Given the description of an element on the screen output the (x, y) to click on. 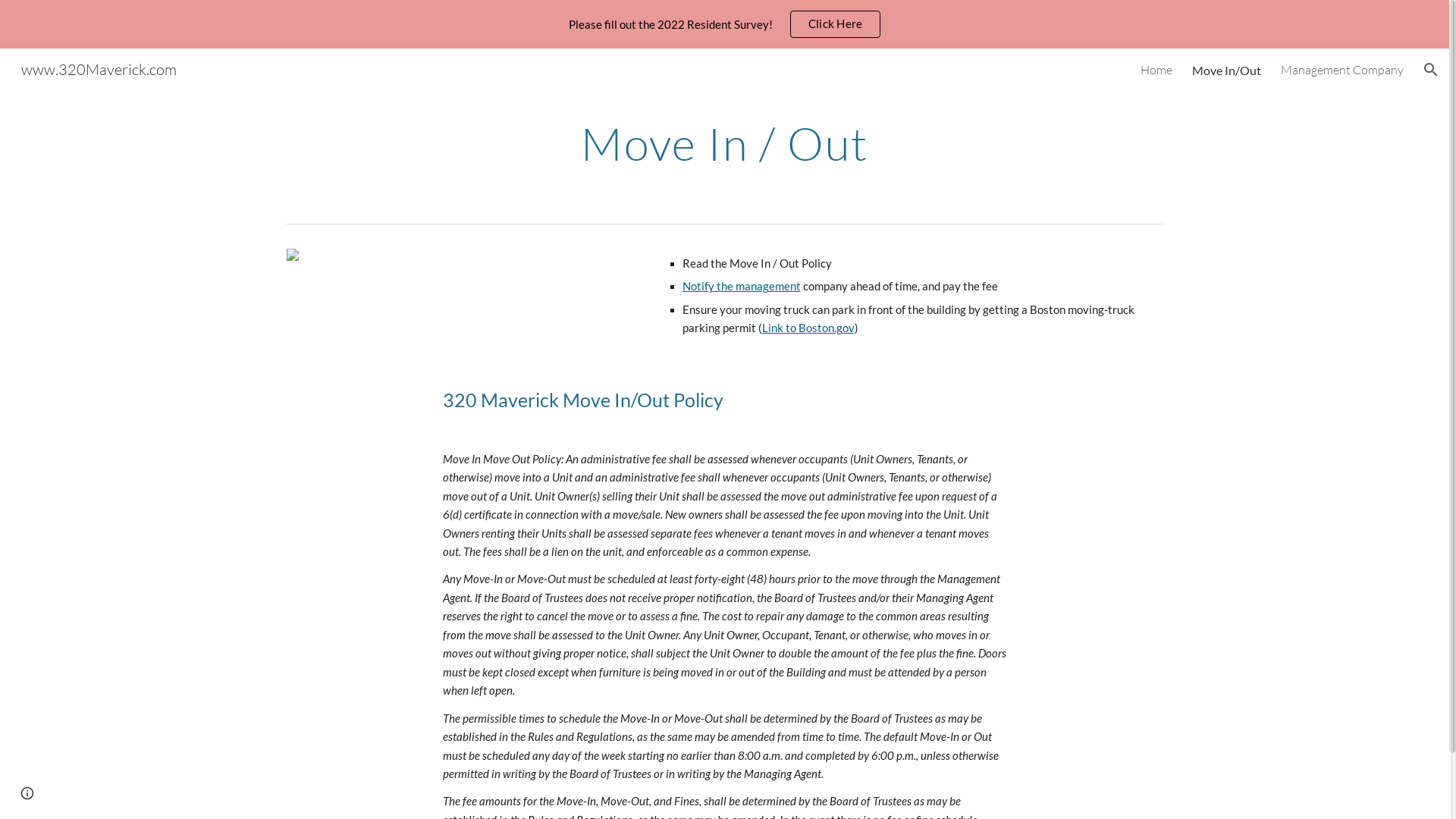
www.320Maverick.com Element type: text (98, 67)
otify the management Element type: text (745, 285)
Home Element type: text (1156, 69)
Management Company Element type: text (1341, 69)
Link to Boston.gov Element type: text (808, 327)
N Element type: text (686, 285)
Move In/Out Element type: text (1226, 69)
Click Here Element type: text (835, 24)
